Given the description of an element on the screen output the (x, y) to click on. 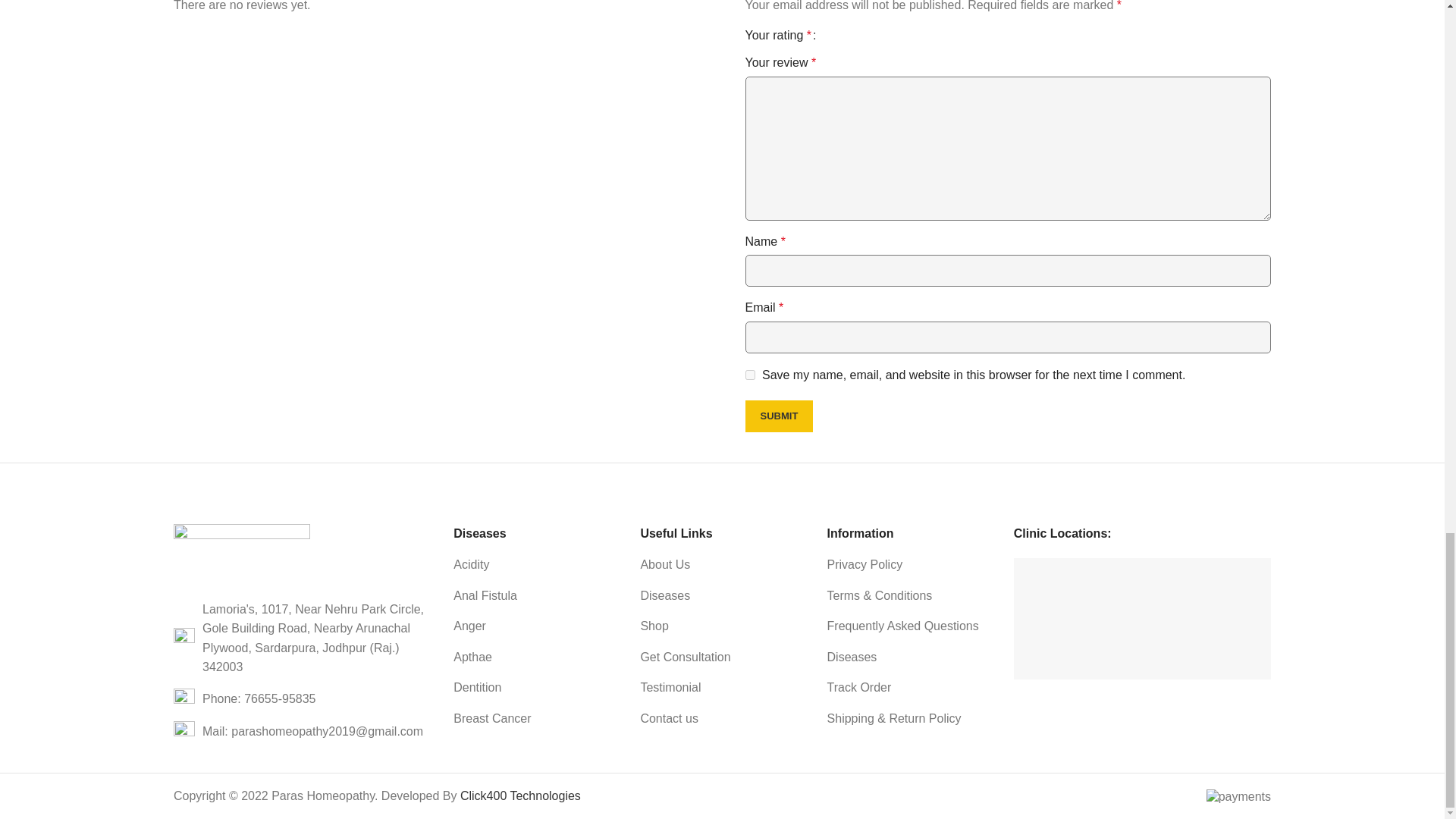
About us (721, 564)
Submit (778, 416)
Acidity (534, 564)
Shop (721, 626)
Services (721, 596)
yes (749, 375)
APTHAE (534, 657)
Anger (534, 626)
